Given the description of an element on the screen output the (x, y) to click on. 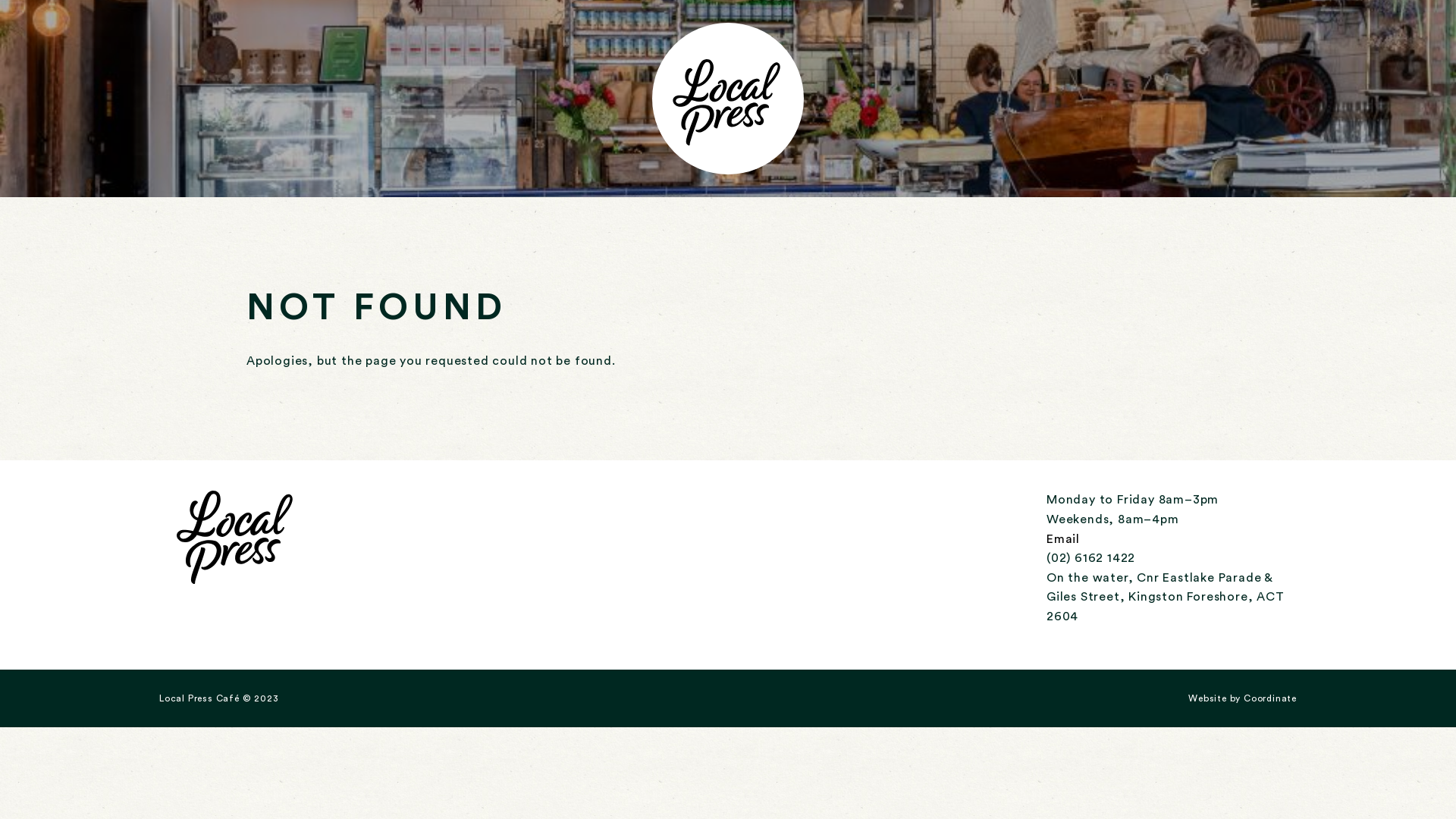
Email Element type: text (1062, 539)
Coordinate Element type: text (1269, 697)
